Given the description of an element on the screen output the (x, y) to click on. 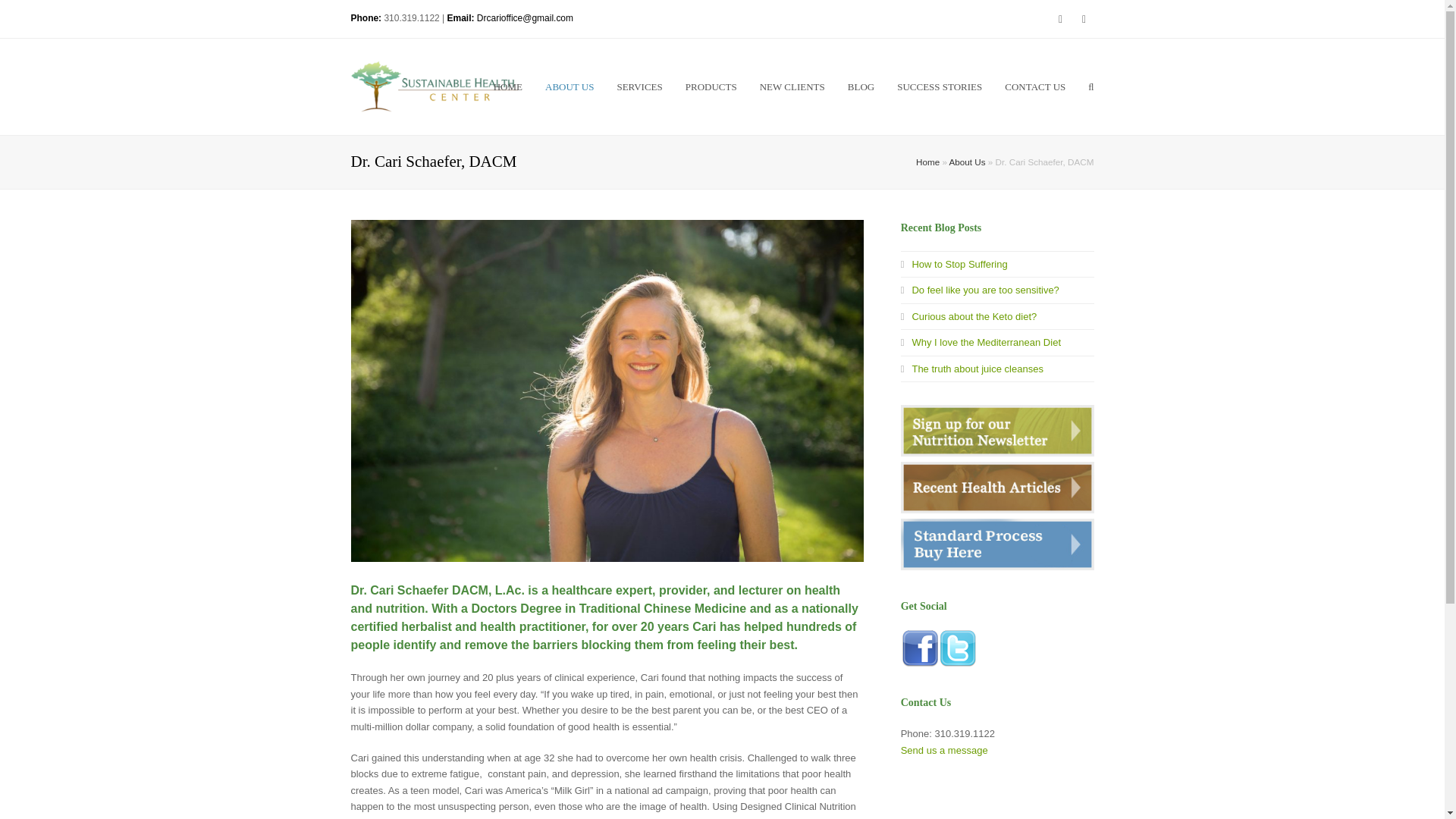
NEW CLIENTS (791, 86)
Do feel like you are too sensitive? (980, 289)
Twitter (1060, 18)
About Us (967, 162)
HOME (507, 86)
SUCCESS STORIES (938, 86)
Why I love the Mediterranean Diet (981, 342)
ABOUT US (569, 86)
Twitter (1060, 18)
Facebook (1083, 18)
